Given the description of an element on the screen output the (x, y) to click on. 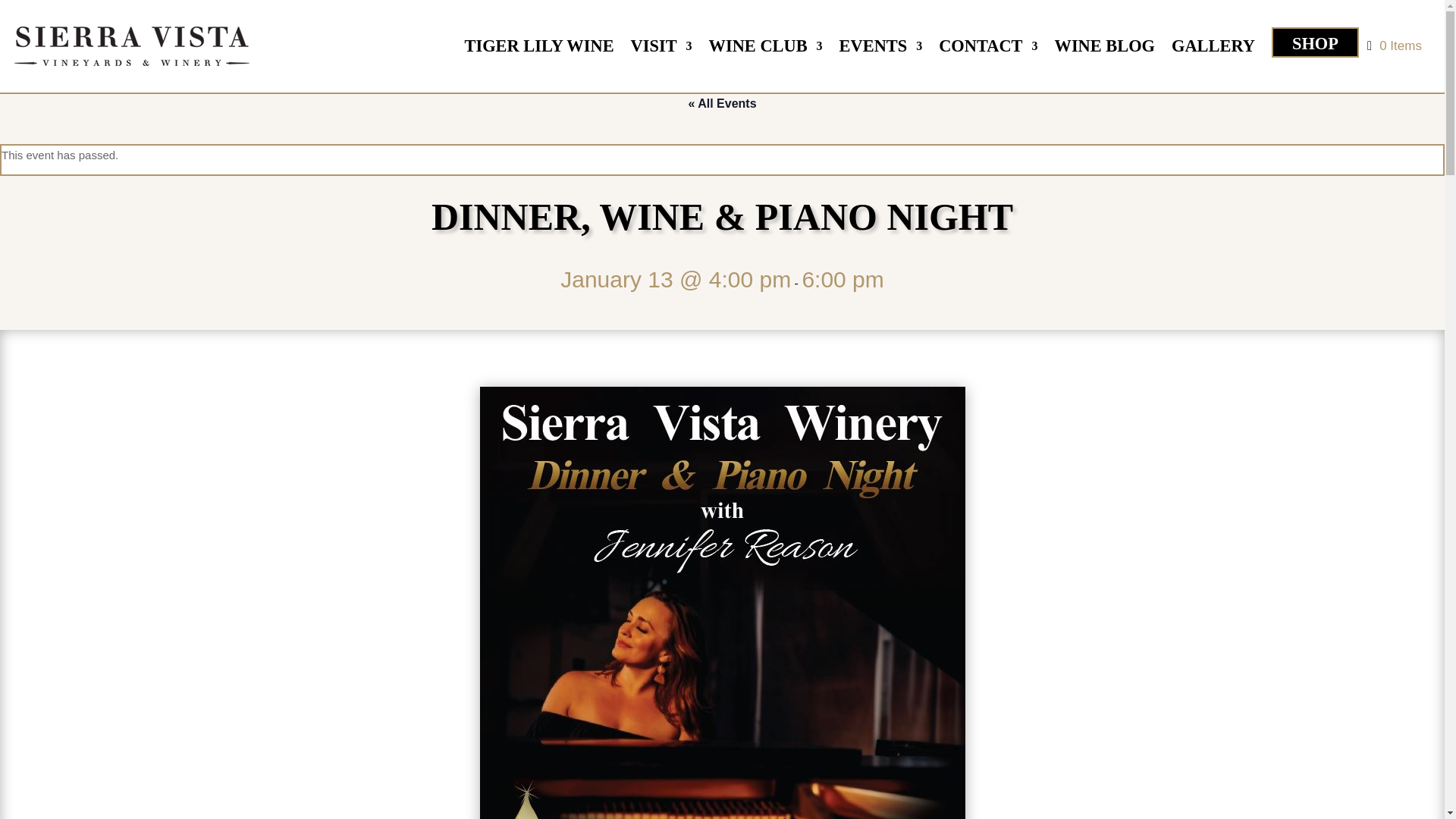
SHOP (1314, 42)
TIGER LILY WINE (539, 48)
GALLERY (1213, 48)
VISIT (661, 48)
CONTACT (987, 48)
WINE BLOG (1105, 48)
WINE CLUB (765, 48)
Go to Homepage (131, 46)
EVENTS (881, 48)
